Given the description of an element on the screen output the (x, y) to click on. 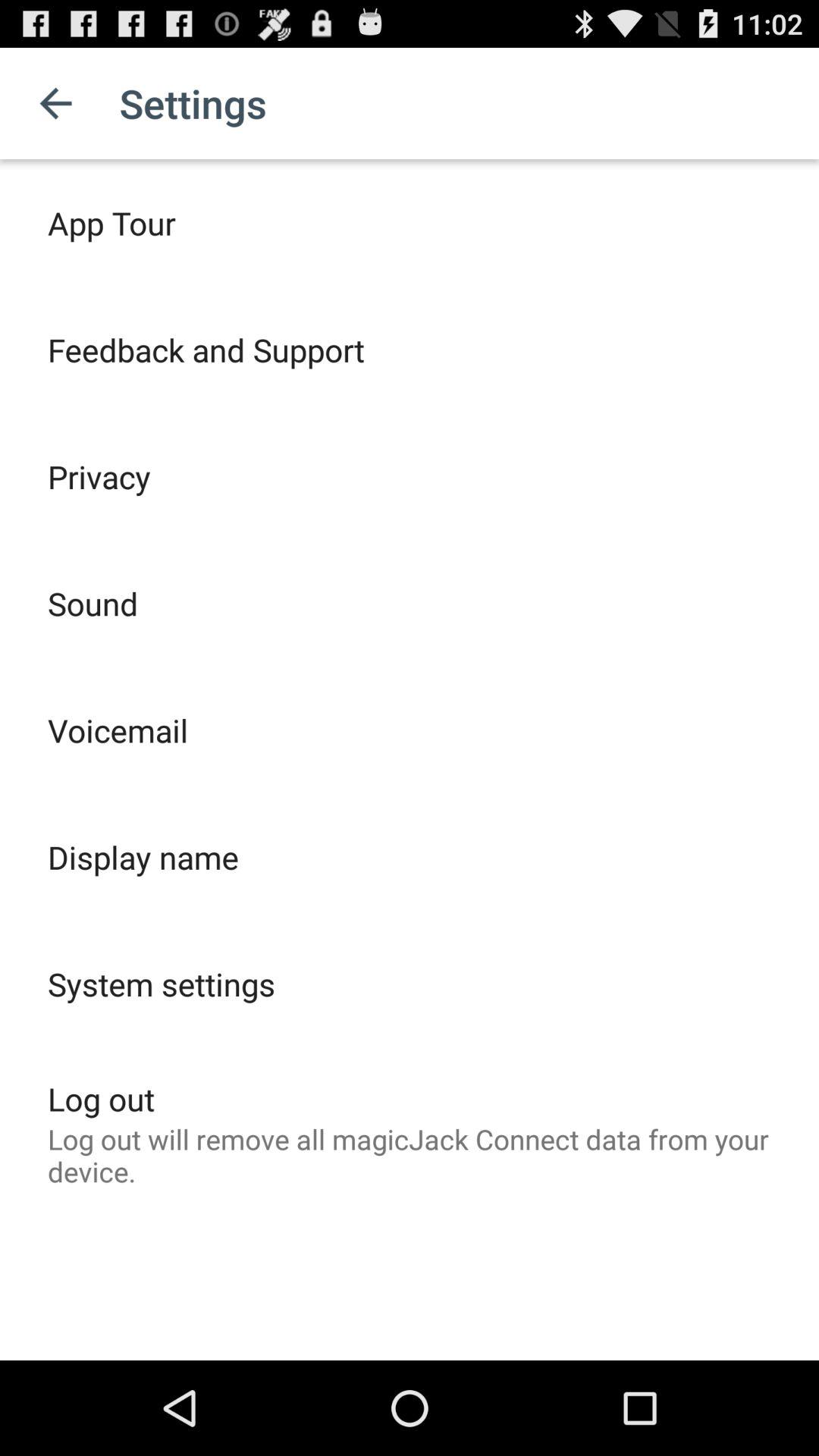
tap item above the feedback and support item (111, 222)
